Given the description of an element on the screen output the (x, y) to click on. 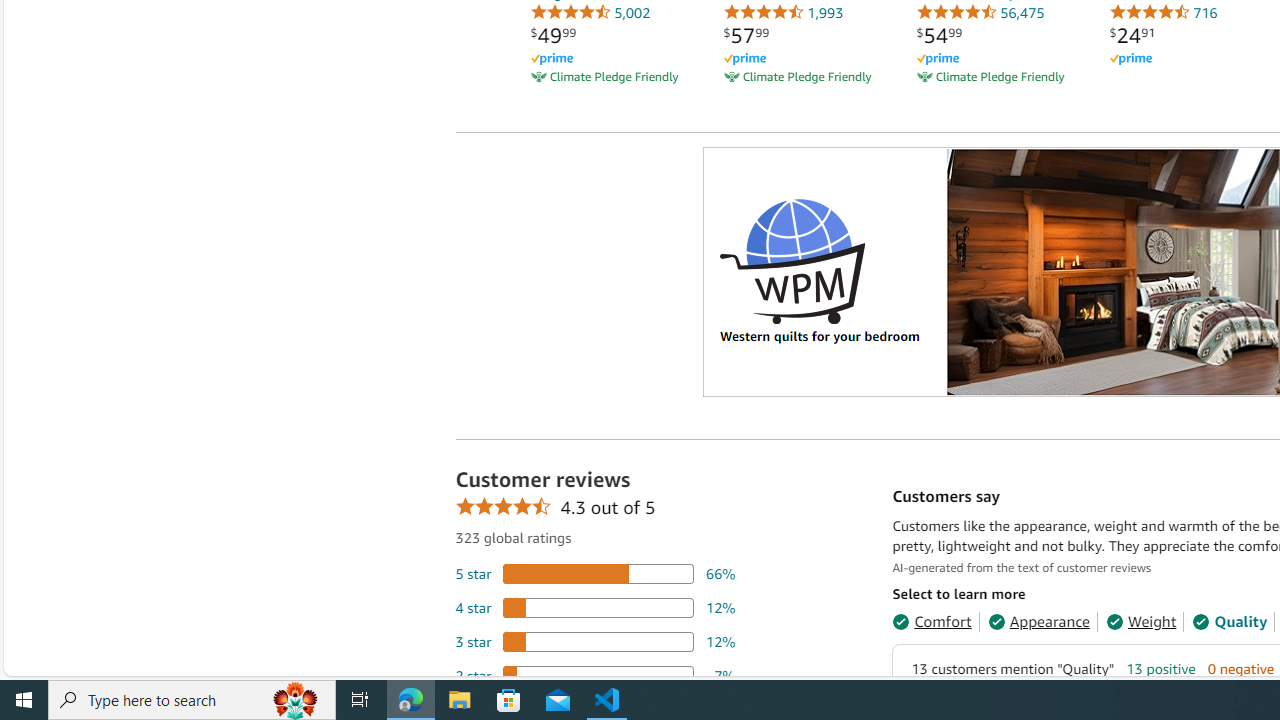
12 percent of reviews have 3 stars (595, 641)
12 percent of reviews have 4 stars (595, 606)
Weight (1140, 621)
Amazon Prime (1130, 59)
$57.99 (746, 35)
716 (1163, 12)
56,475 (980, 12)
Logo (792, 260)
Amazon Prime (1188, 58)
$54.99 (939, 35)
1,993 (783, 12)
7 percent of reviews have 2 stars (595, 675)
66 percent of reviews have 5 stars (595, 573)
